Given the description of an element on the screen output the (x, y) to click on. 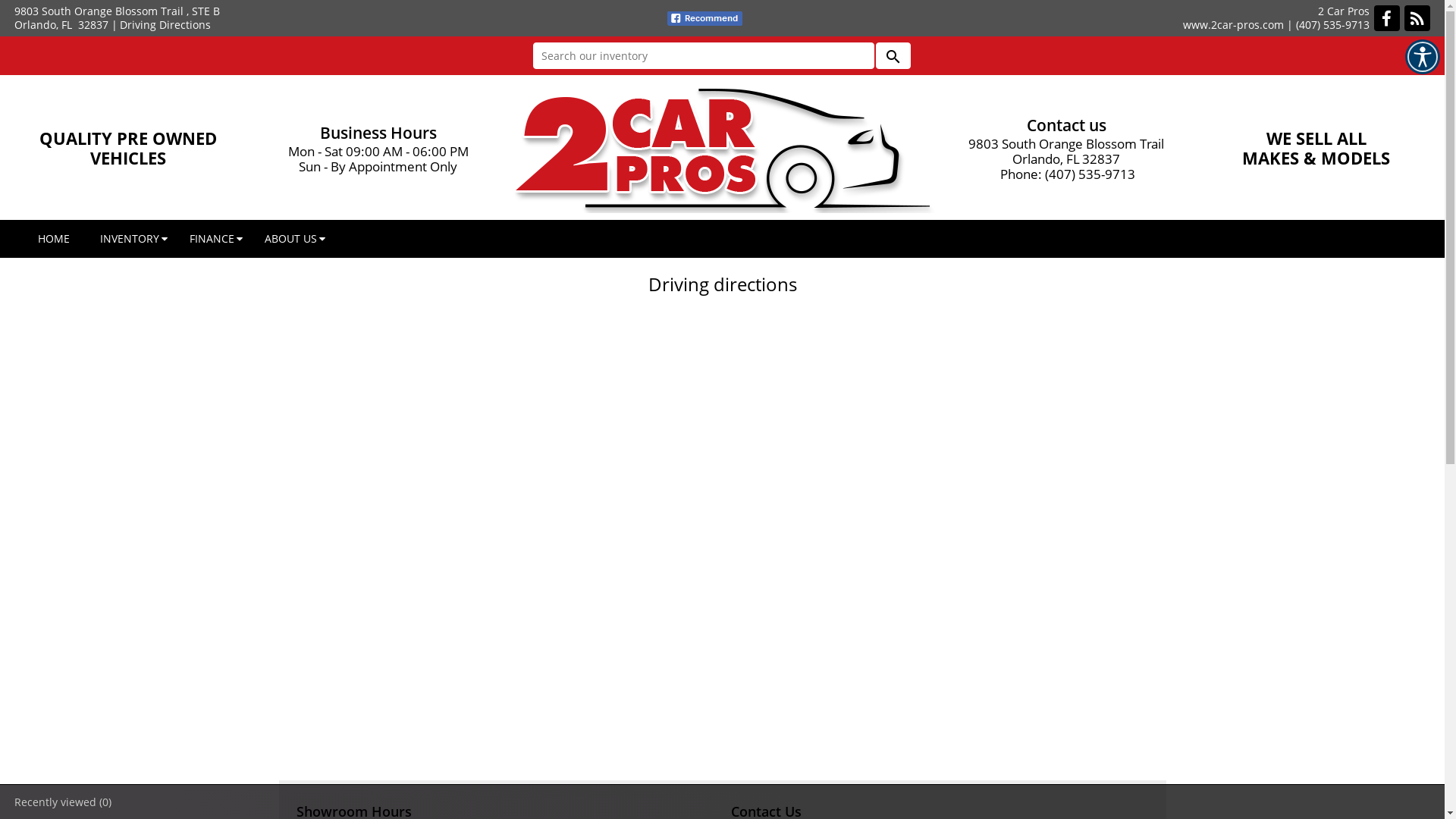
ABOUT US Element type: text (290, 238)
fb recommend Element type: hover (704, 18)
2 Car Pros, Orlando, FL Element type: hover (722, 147)
(407) 535-9713 Element type: text (1332, 24)
Directions Element type: hover (722, 535)
Driving Directions Element type: text (164, 24)
Search our inventory Element type: hover (702, 55)
www.2car-pros.com Element type: text (1233, 24)
INVENTORY Element type: text (129, 238)
HOME Element type: text (53, 238)
search Element type: text (892, 55)
QUALITY PRE OWNED
VEHICLES Element type: text (127, 147)
Phone: (407) 535-9713 Element type: text (1066, 173)
WE SELL ALL
MAKES & MODELS Element type: text (1316, 147)
FINANCE Element type: text (211, 238)
